Given the description of an element on the screen output the (x, y) to click on. 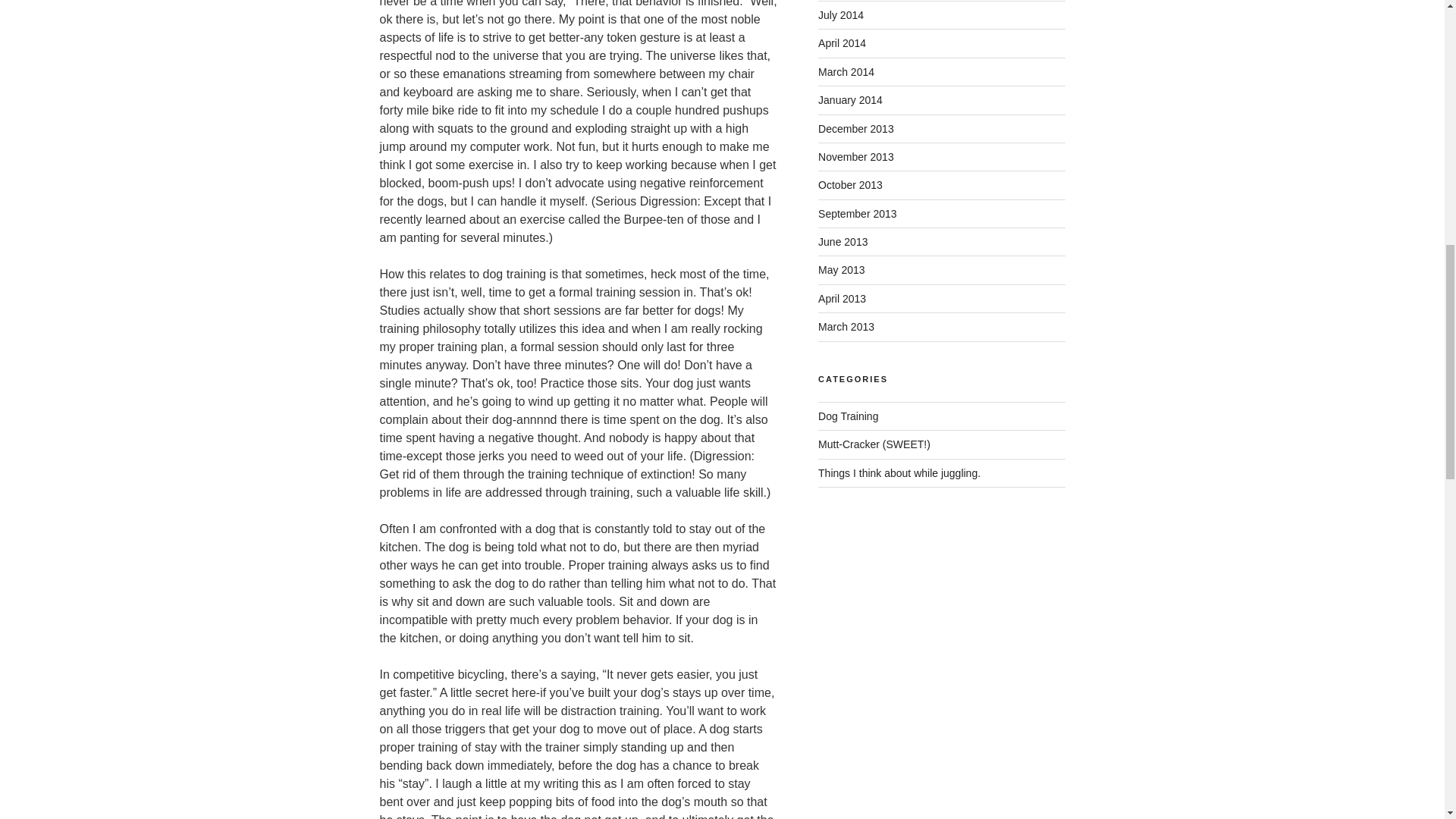
April 2013 (842, 298)
October 2013 (850, 184)
January 2014 (850, 100)
December 2013 (855, 128)
June 2013 (842, 241)
November 2013 (855, 156)
July 2014 (840, 15)
Dog Training (847, 416)
March 2013 (846, 326)
April 2014 (842, 42)
March 2014 (846, 71)
May 2013 (841, 269)
September 2013 (857, 214)
